Given the description of an element on the screen output the (x, y) to click on. 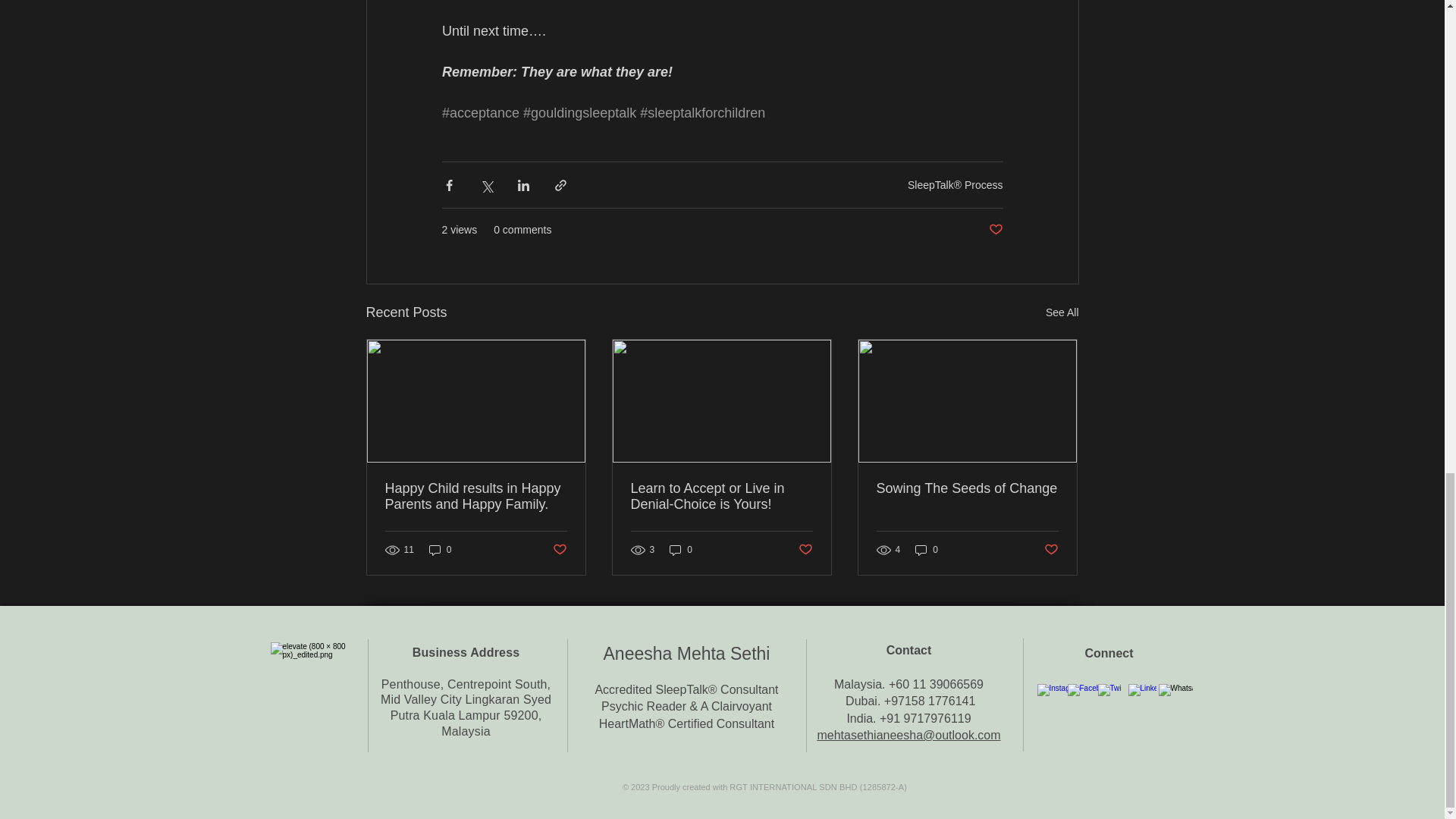
0 (440, 549)
See All (1061, 312)
0 (681, 549)
Happy Child results in Happy Parents and Happy Family. (476, 496)
Post not marked as liked (558, 549)
Learn to Accept or Live in Denial-Choice is Yours! (721, 496)
Post not marked as liked (995, 229)
